Given the description of an element on the screen output the (x, y) to click on. 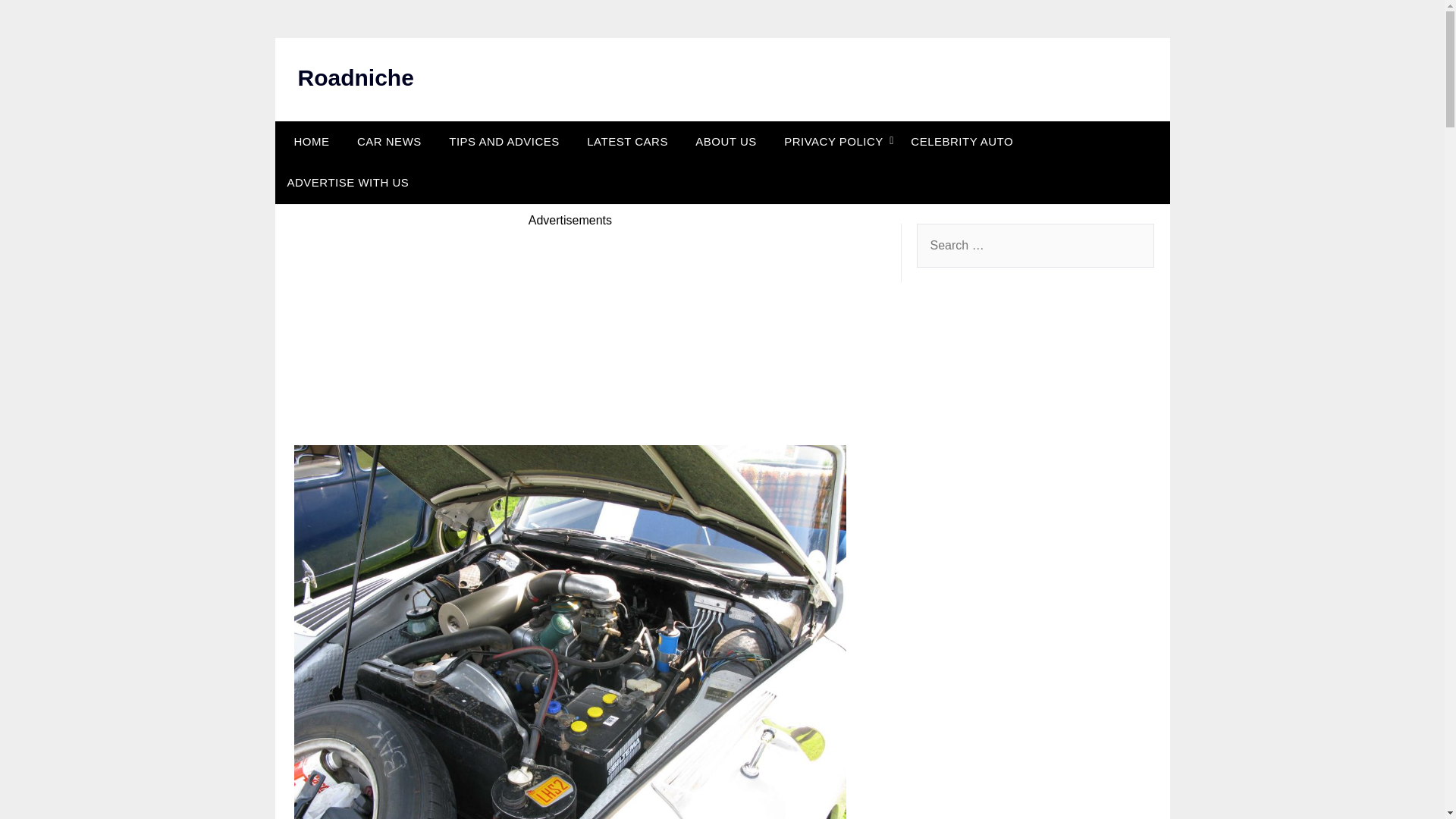
Search (38, 22)
CELEBRITY AUTO (961, 141)
Roadniche (355, 77)
CAR NEWS (389, 141)
HOME (307, 141)
ADVERTISE WITH US (347, 182)
PRIVACY POLICY (833, 141)
ABOUT US (725, 141)
LATEST CARS (627, 141)
TIPS AND ADVICES (504, 141)
